Given the description of an element on the screen output the (x, y) to click on. 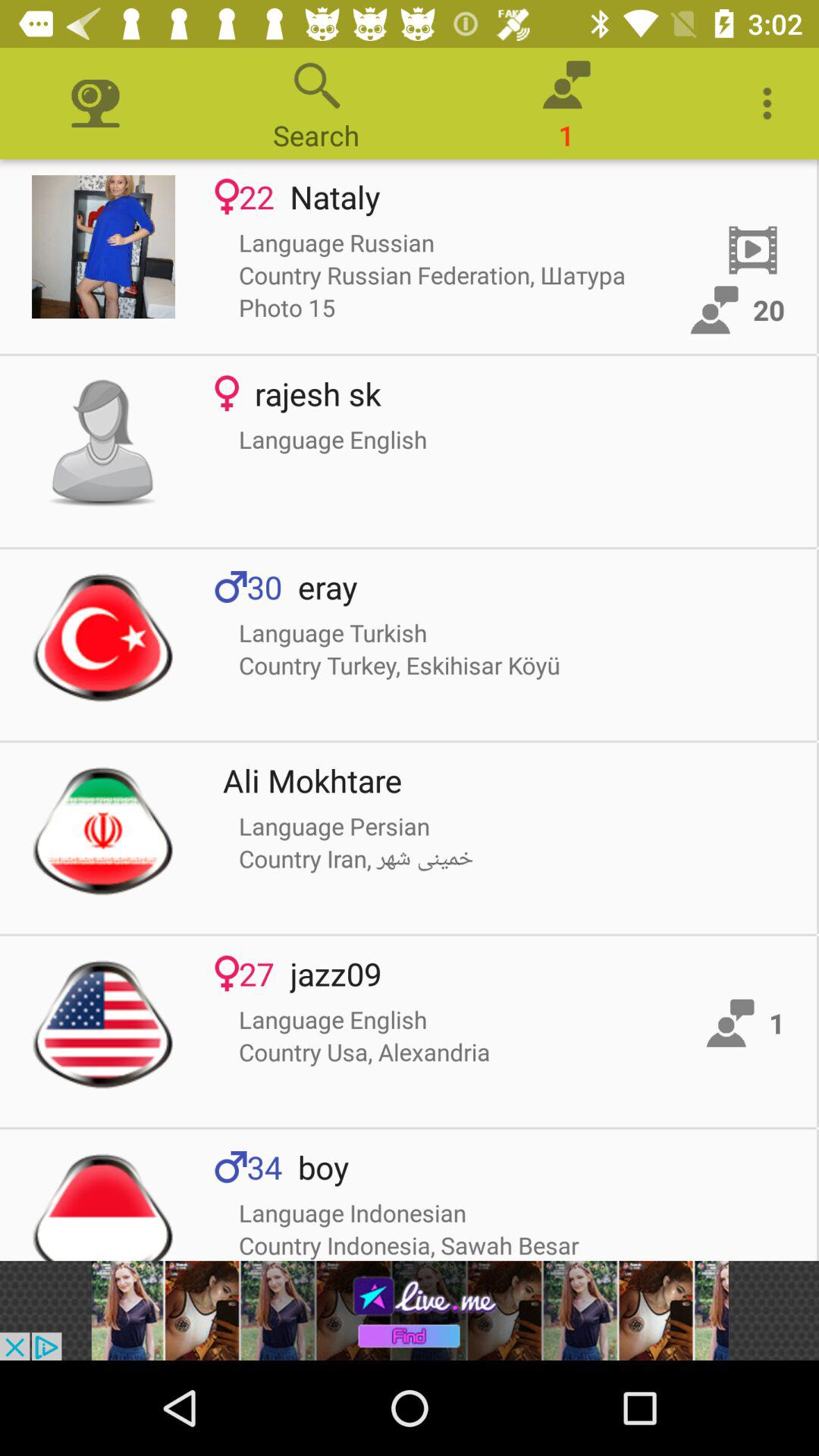
view this profile (103, 443)
